Given the description of an element on the screen output the (x, y) to click on. 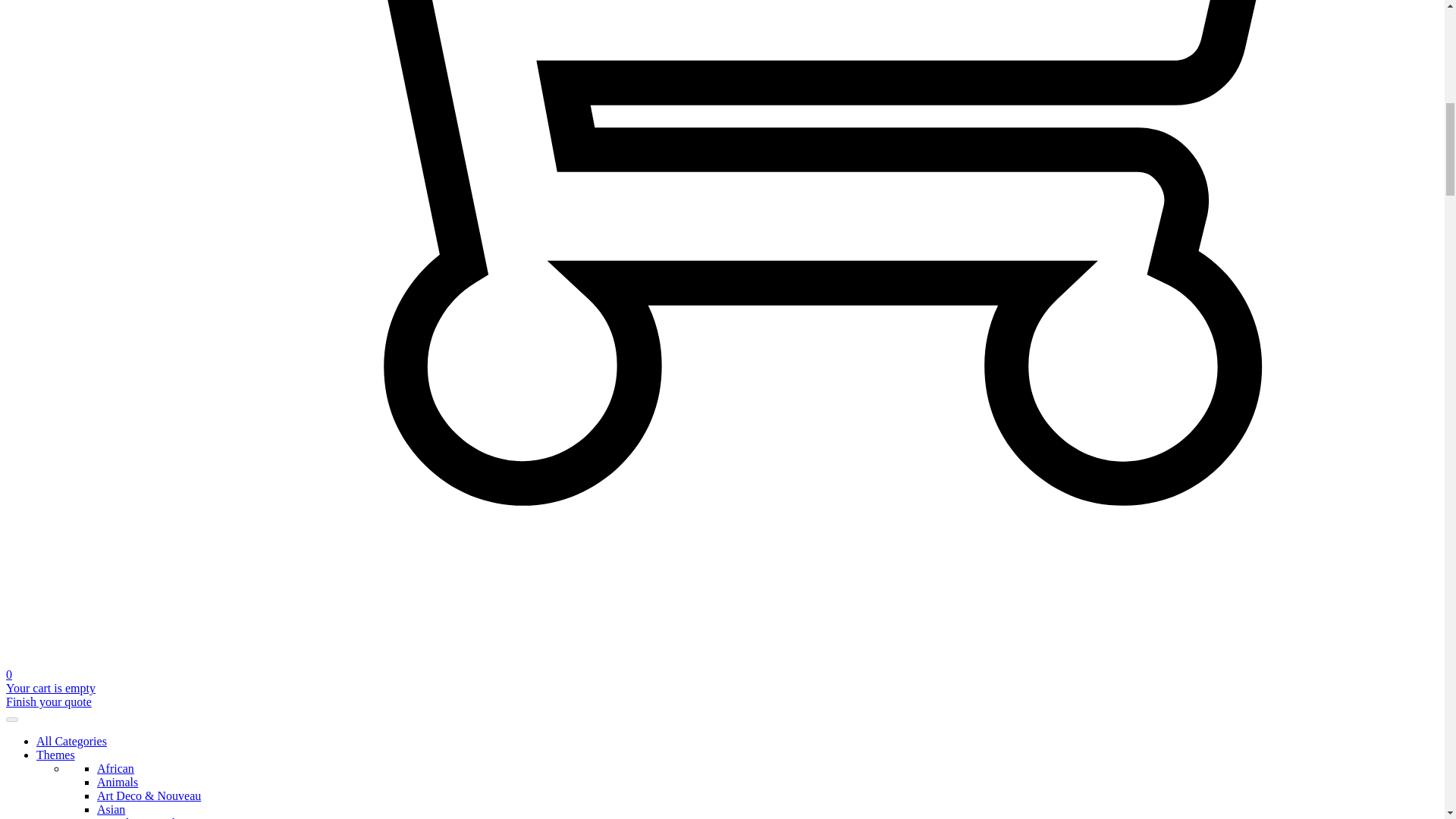
Themes (55, 754)
Asian (111, 809)
Animals (117, 781)
Your cart is empty (50, 687)
Finish your quote (48, 701)
African (115, 768)
All Categories (71, 740)
Finish your quote (48, 701)
